Given the description of an element on the screen output the (x, y) to click on. 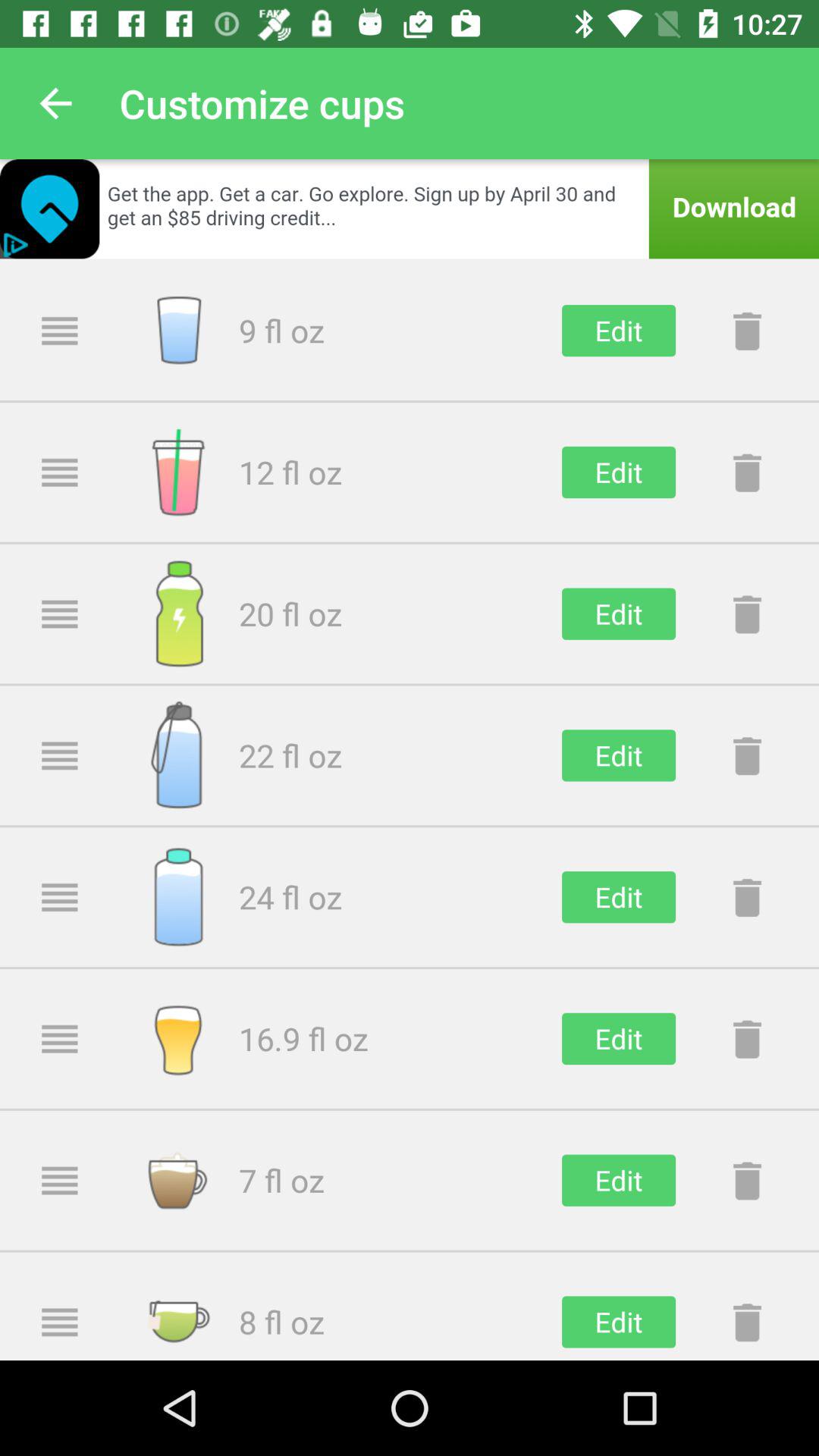
delete button (747, 1038)
